Given the description of an element on the screen output the (x, y) to click on. 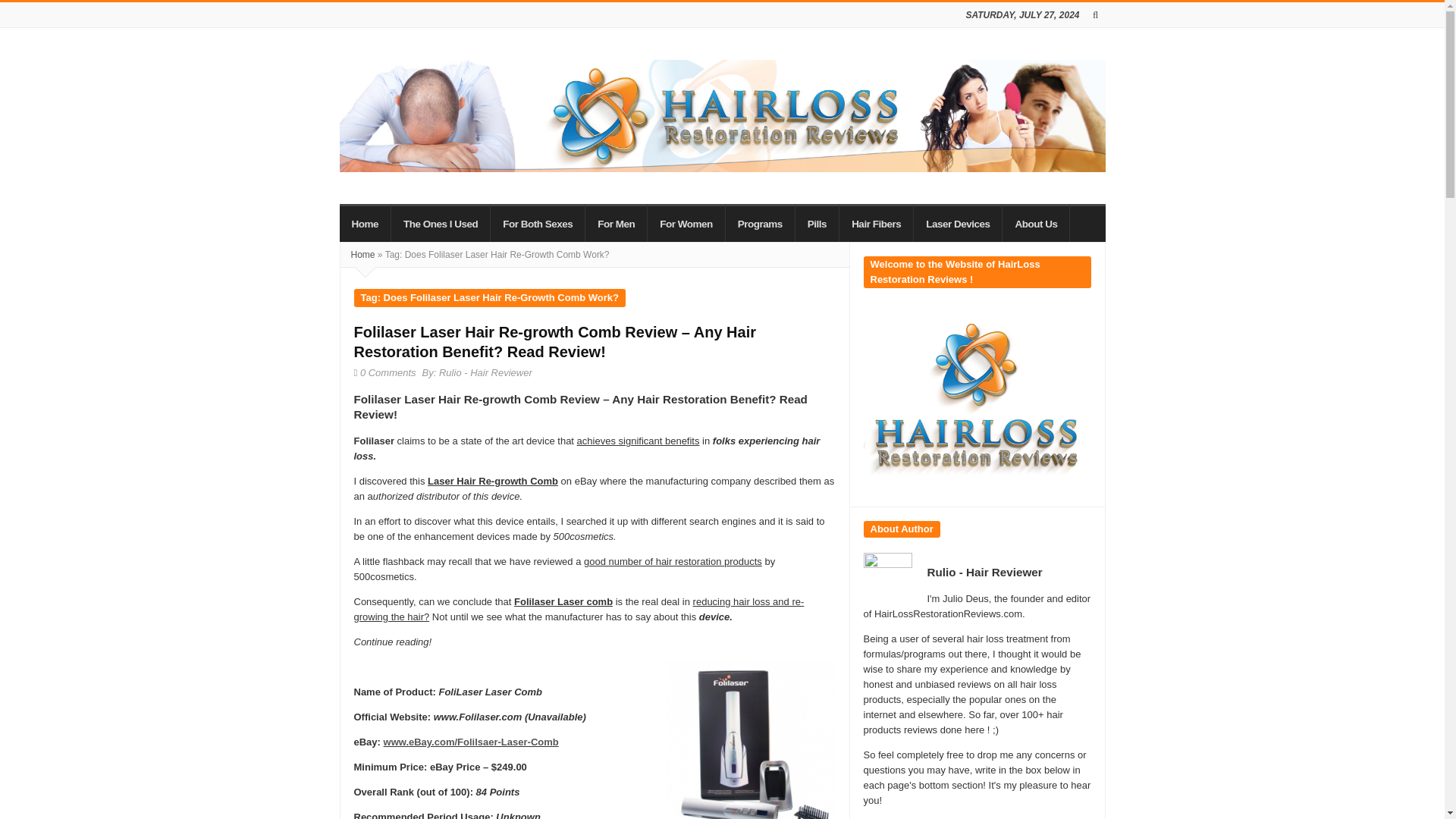
For Both Sexes (537, 222)
Pills (817, 222)
Laser Devices (958, 222)
Home (365, 222)
About Us (1036, 222)
Home (362, 254)
Hair Fibers (877, 222)
Programs (759, 222)
HairLoss Restoration Reviews (722, 115)
For Women (686, 222)
The Ones I Used (440, 222)
For Men (616, 222)
